Given the description of an element on the screen output the (x, y) to click on. 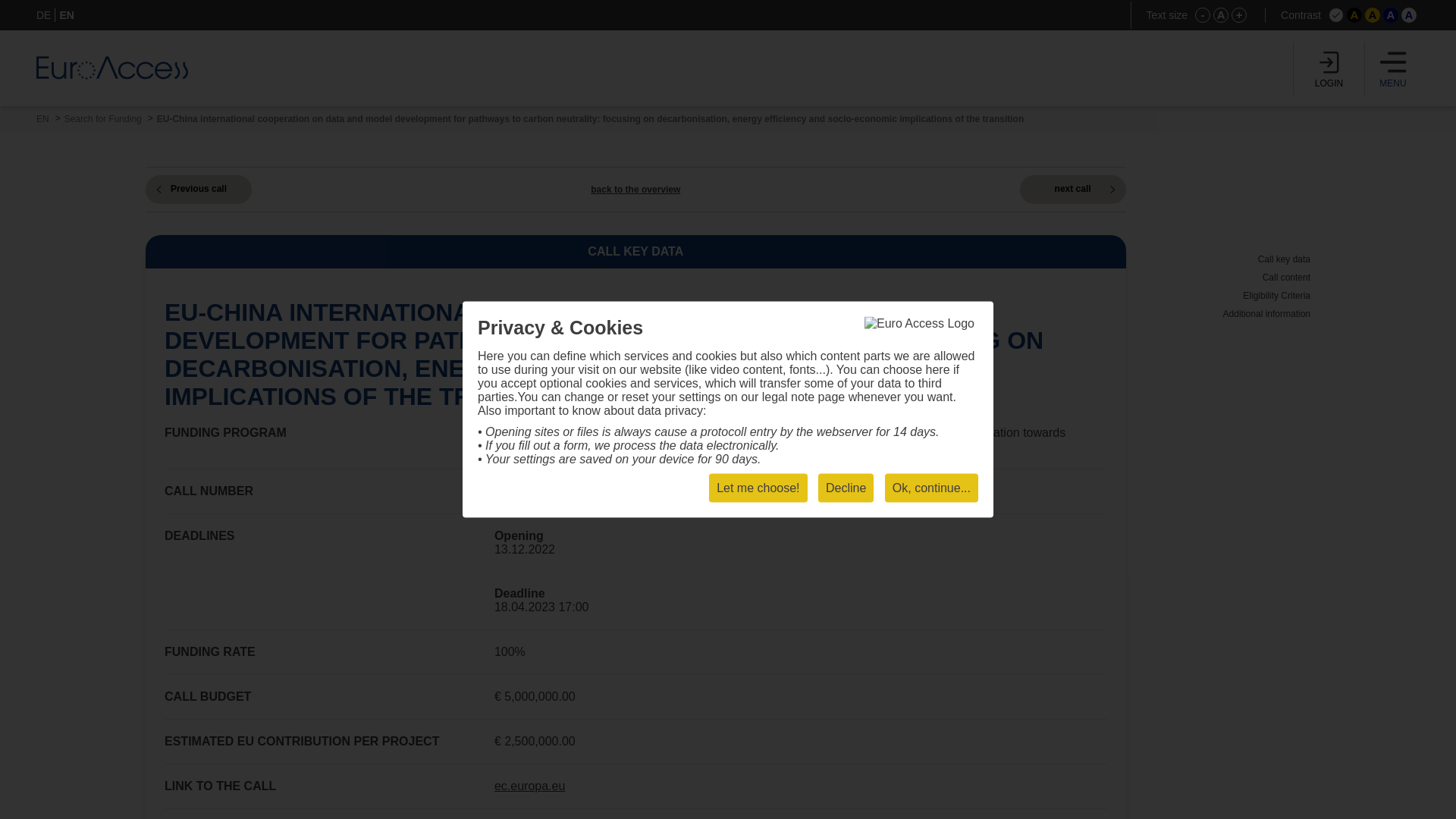
Search for Funding (102, 118)
MENU (1393, 68)
EN (66, 15)
Yellow on black (1353, 14)
- (1202, 14)
Zur Startseite (111, 67)
EN (42, 118)
Blue on white (1408, 14)
Search for Funding (102, 118)
A (1390, 14)
A (1353, 14)
Black on yellow (1372, 14)
A (1372, 14)
A (1408, 14)
EN (42, 118)
